Given the description of an element on the screen output the (x, y) to click on. 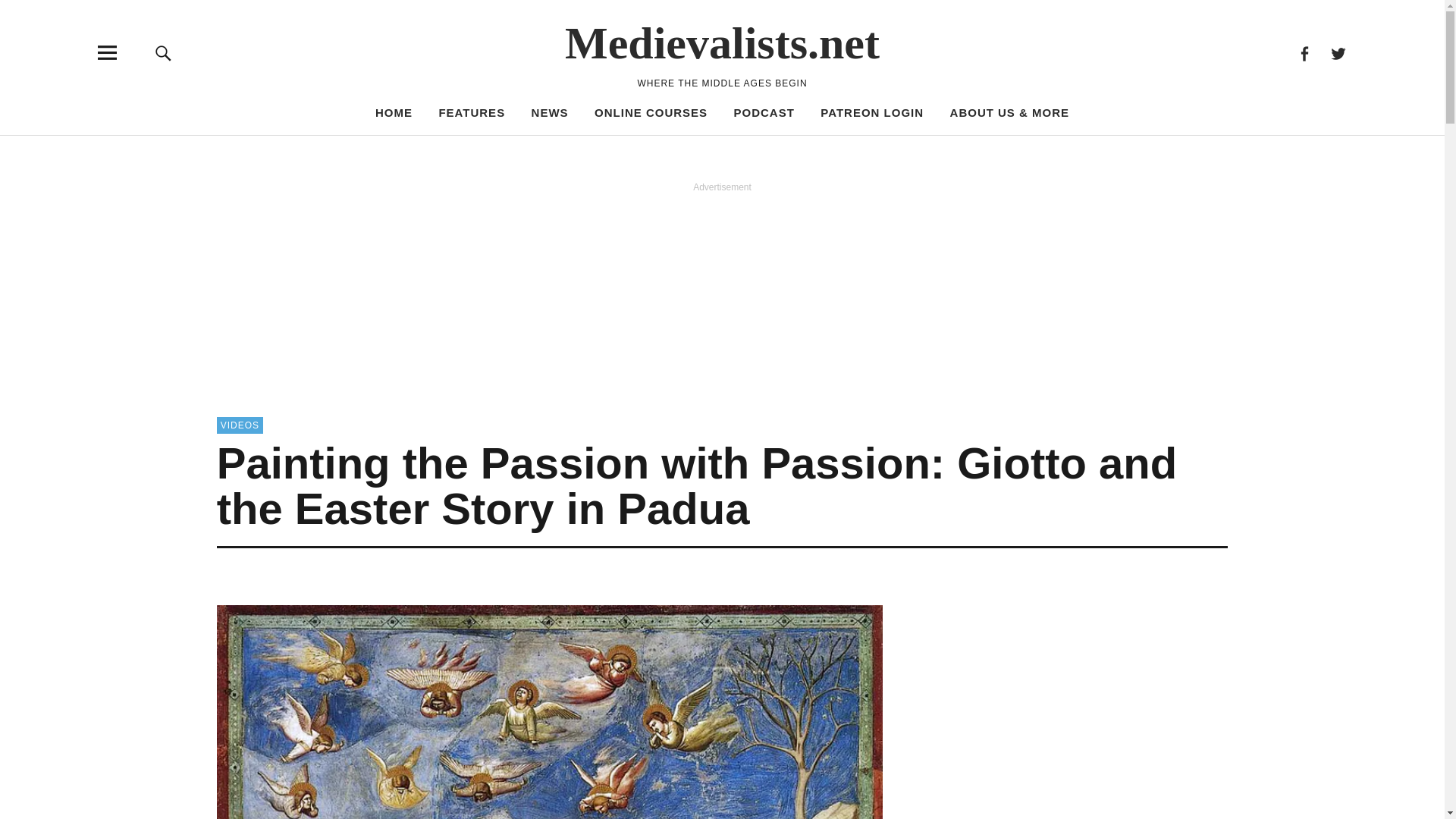
FEATURES (471, 112)
PATREON LOGIN (872, 112)
PODCAST (763, 112)
Medievalists.net (721, 42)
Search (965, 150)
ONLINE COURSES (650, 112)
HOME (393, 112)
NEWS (550, 112)
